Given the description of an element on the screen output the (x, y) to click on. 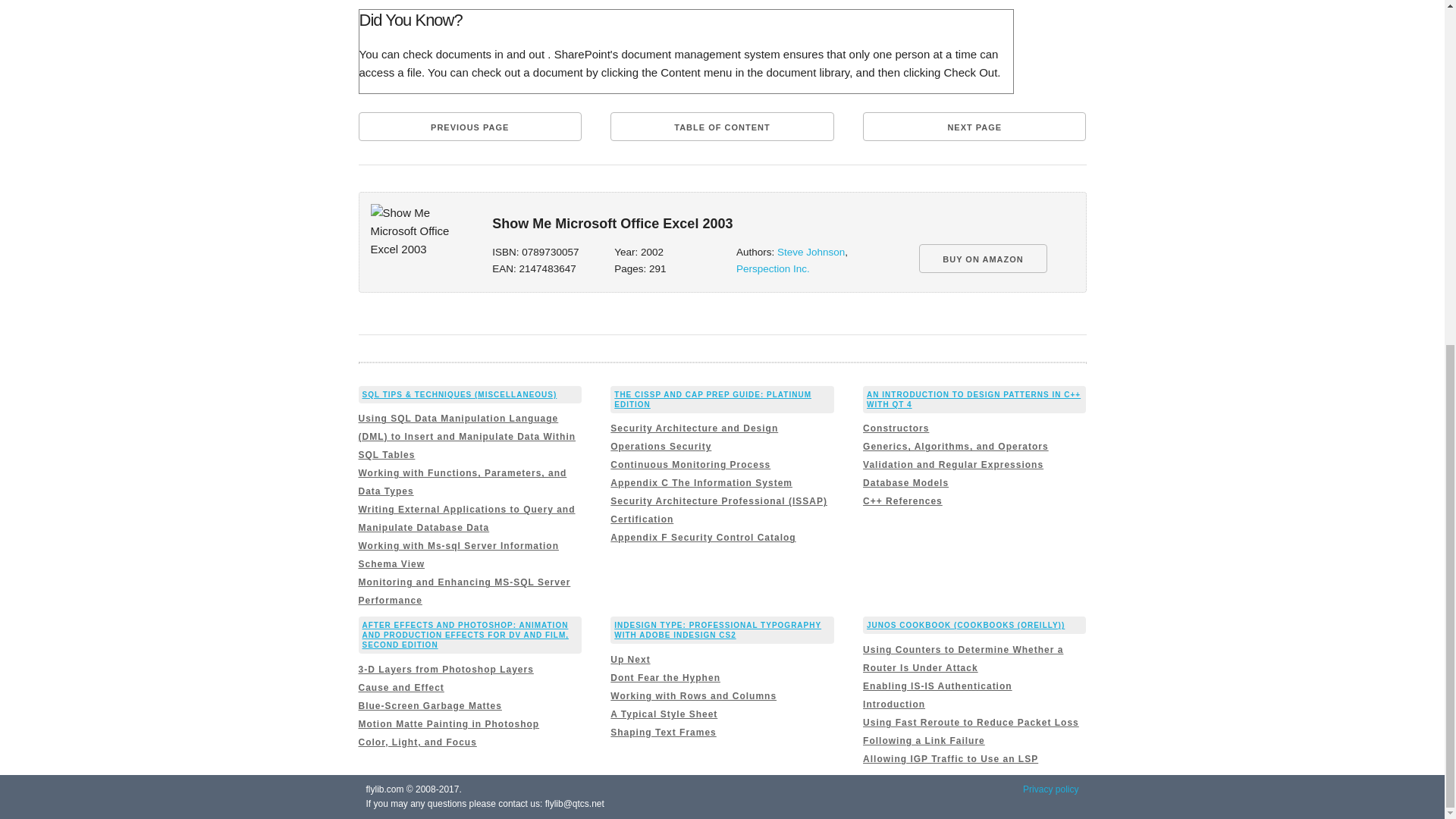
Working with Ms-sql Server Information Schema View (457, 554)
Color, Light, and Focus (417, 742)
Monitoring and Enhancing MS-SQL Server Performance (464, 591)
Up Next (629, 659)
BUY ON AMAZON (982, 258)
TABLE OF CONTENT (721, 126)
Constructors (895, 428)
Validation and Regular Expressions (953, 464)
Dont Fear the Hyphen (665, 677)
